Given the description of an element on the screen output the (x, y) to click on. 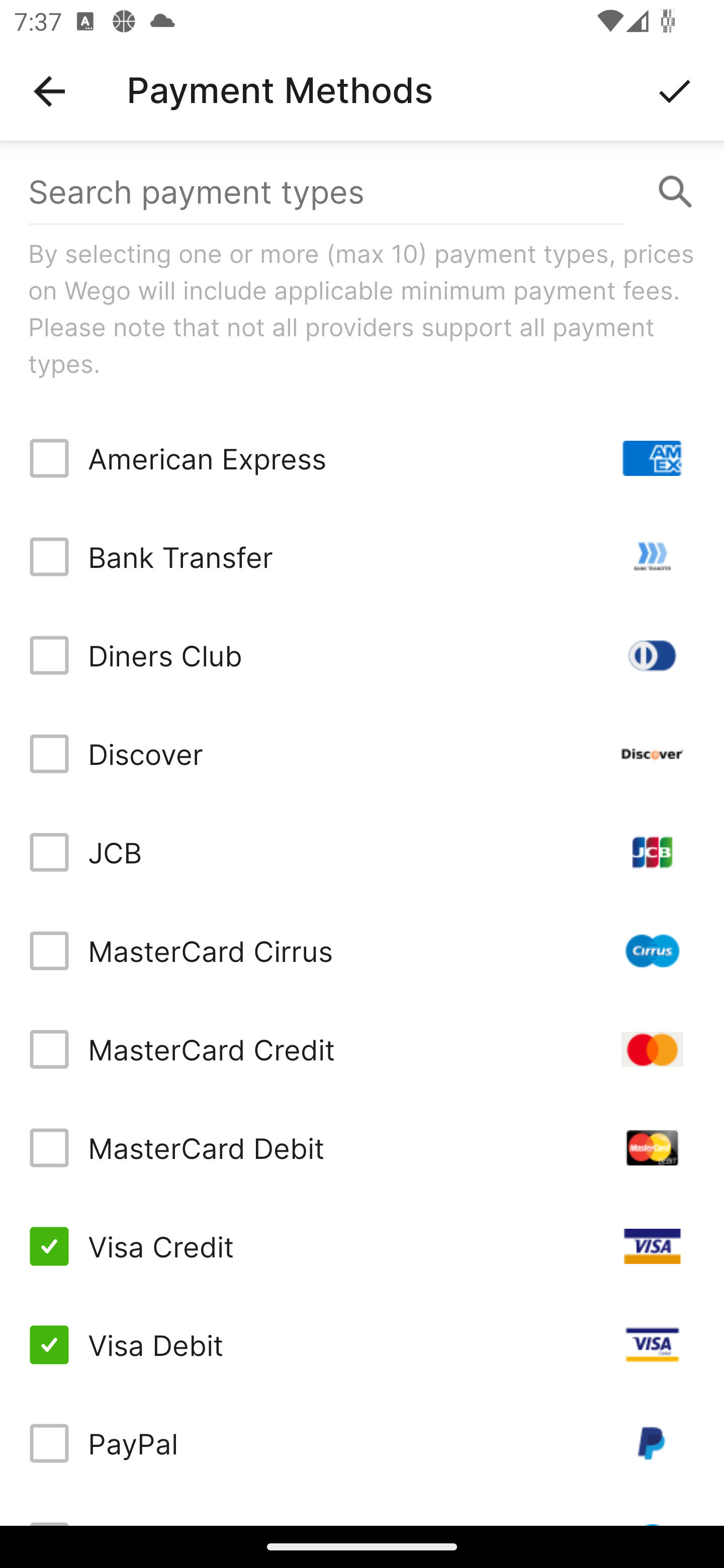
Search payment types  (361, 191)
American Express (362, 458)
Bank Transfer (362, 557)
Diners Club (362, 655)
Discover (362, 753)
JCB (362, 851)
MasterCard Cirrus (362, 950)
MasterCard Credit (362, 1049)
MasterCard Debit (362, 1147)
Visa Credit (362, 1245)
Visa Debit (362, 1344)
PayPal (362, 1442)
